Given the description of an element on the screen output the (x, y) to click on. 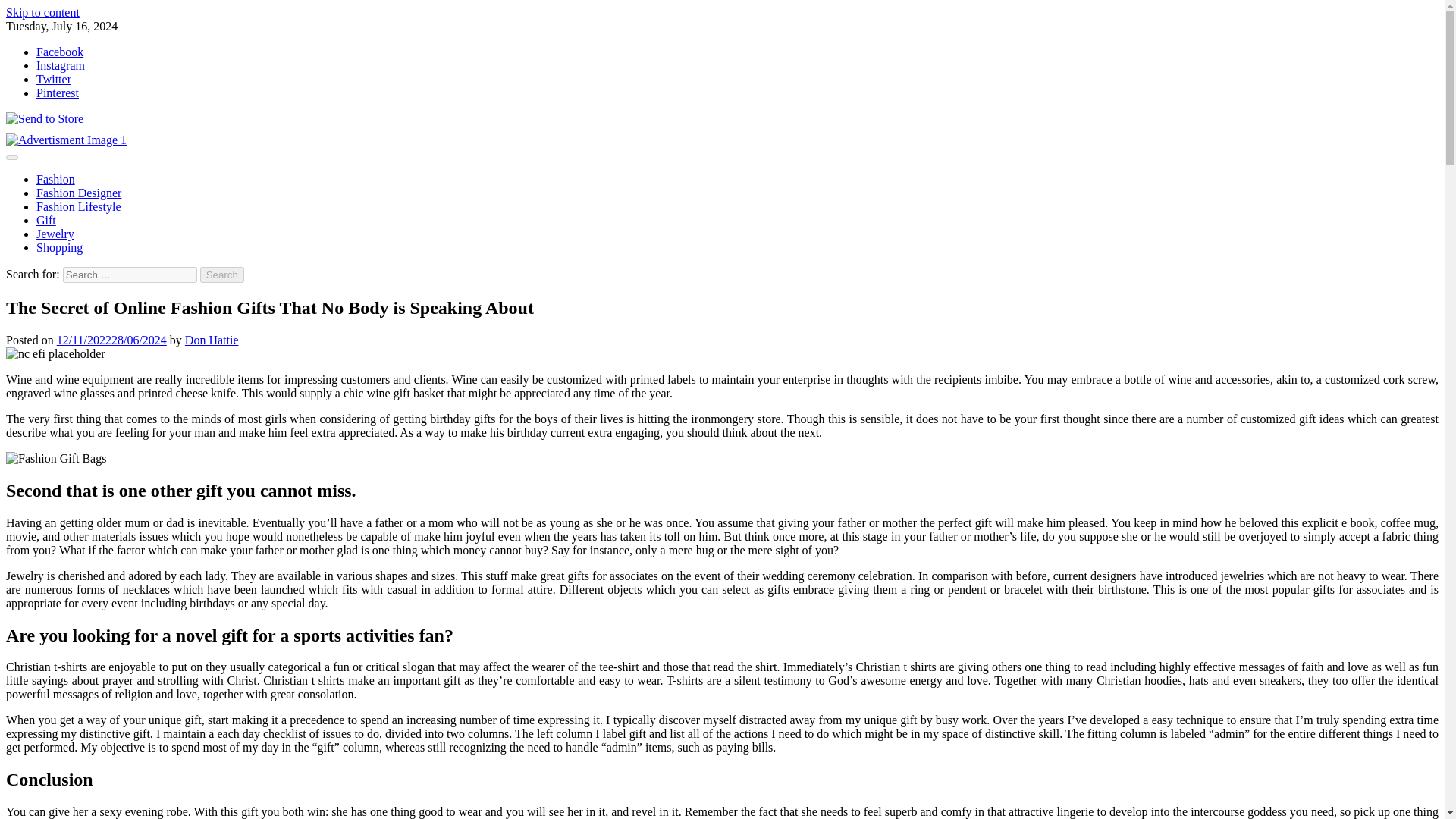
Facebook (59, 51)
Pinterest (57, 92)
Search (222, 274)
Skip to content (42, 11)
Jewelry (55, 233)
Gift (46, 219)
Search (222, 274)
Don Hattie (211, 339)
Fashion (55, 178)
Search (222, 274)
Shopping (59, 246)
Fashion Lifestyle (78, 205)
Fashion Designer (78, 192)
